Given the description of an element on the screen output the (x, y) to click on. 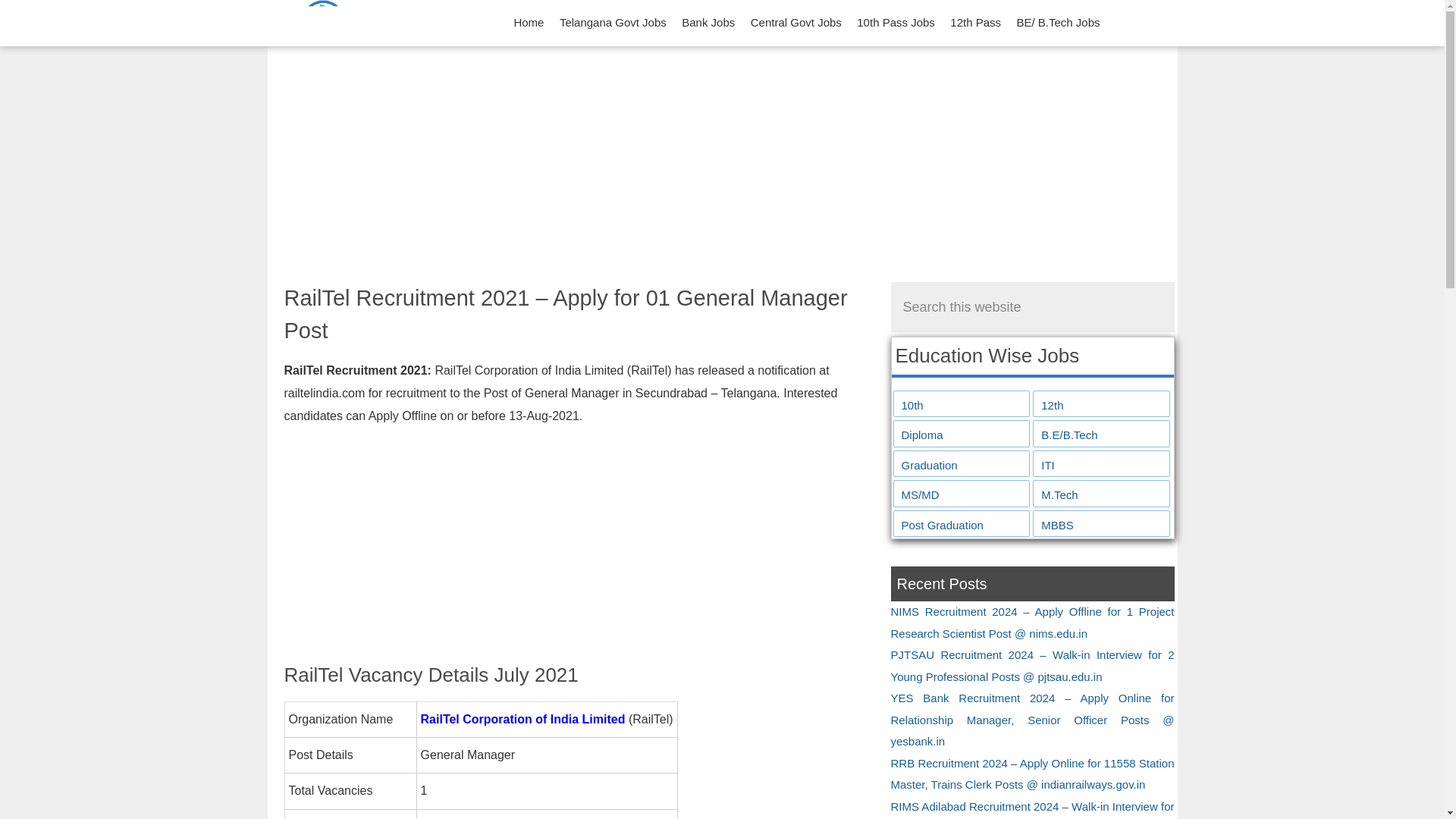
12th (1101, 405)
Bank Jobs (708, 22)
Home (528, 22)
Telangana Govt Jobs (612, 22)
MBBS (1101, 526)
RailTel Corporation of India Limited (523, 718)
M.Tech (1101, 495)
Central Govt Jobs (795, 22)
